Given the description of an element on the screen output the (x, y) to click on. 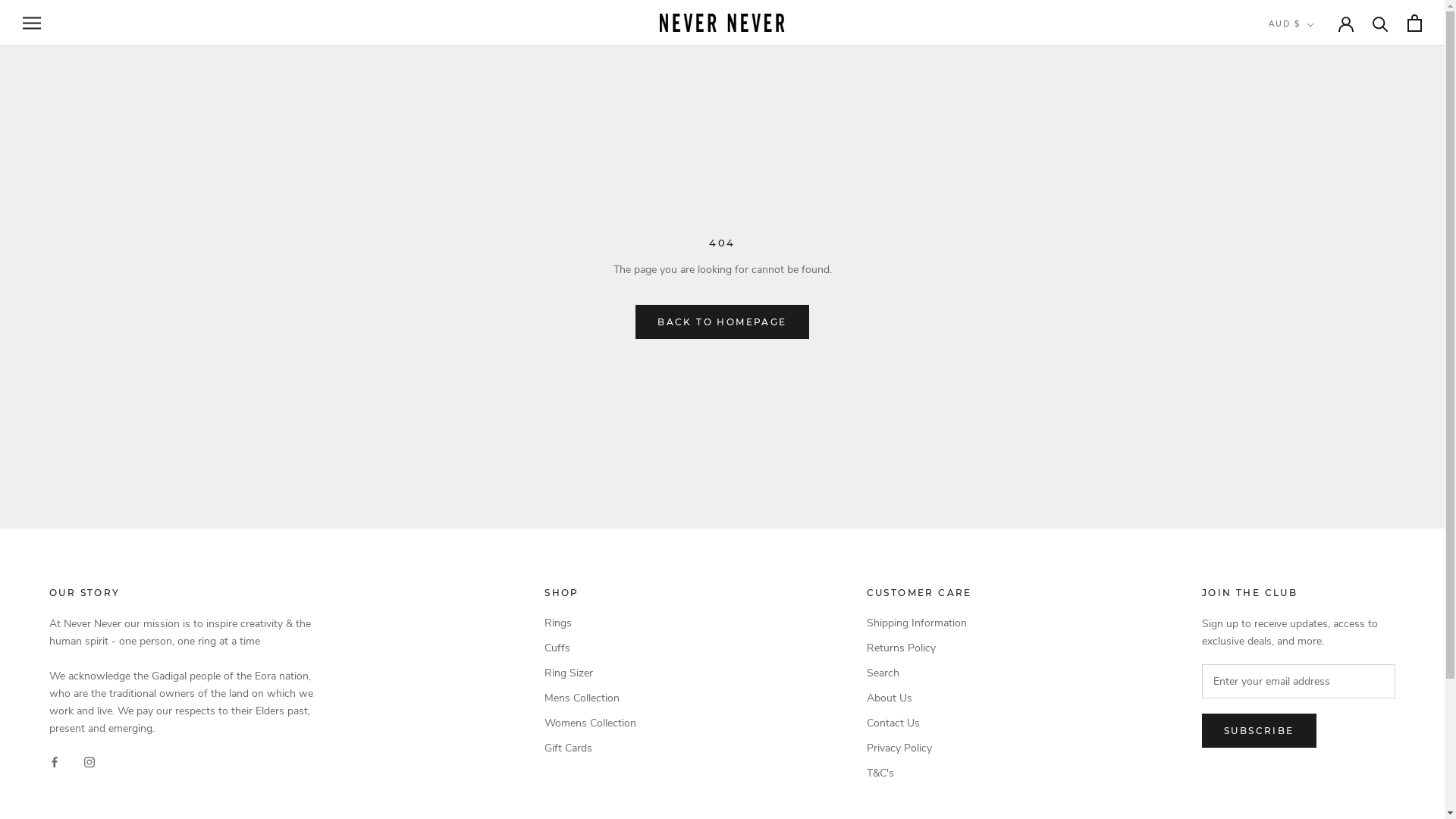
SUBSCRIBE Element type: text (1258, 730)
EGP Element type: text (1317, 638)
CHF Element type: text (1317, 458)
Search Element type: text (919, 672)
AFN Element type: text (1317, 75)
CVE Element type: text (1317, 518)
Womens Collection Element type: text (590, 723)
BND Element type: text (1317, 317)
EUR Element type: text (1317, 678)
BZD Element type: text (1317, 397)
DJF Element type: text (1317, 558)
GBP Element type: text (1317, 739)
AED Element type: text (1317, 56)
BBD Element type: text (1317, 236)
ALL Element type: text (1317, 96)
CAD Element type: text (1317, 417)
T&C's Element type: text (919, 773)
BIF Element type: text (1317, 297)
DOP Element type: text (1317, 598)
BAM Element type: text (1317, 217)
BSD Element type: text (1317, 357)
Contact Us Element type: text (919, 723)
Cuffs Element type: text (590, 647)
CNY Element type: text (1317, 477)
DKK Element type: text (1317, 578)
Gift Cards Element type: text (590, 748)
AWG Element type: text (1317, 176)
GMD Element type: text (1317, 759)
Ring Sizer Element type: text (590, 672)
ETB Element type: text (1317, 659)
DZD Element type: text (1317, 618)
ANG Element type: text (1317, 136)
CZK Element type: text (1317, 538)
CDF Element type: text (1317, 437)
BACK TO HOMEPAGE Element type: text (721, 321)
FJD Element type: text (1317, 699)
GNF Element type: text (1317, 779)
Shipping Information Element type: text (919, 622)
AUD $ Element type: text (1291, 24)
GTQ Element type: text (1317, 799)
AMD Element type: text (1317, 116)
Returns Policy Element type: text (919, 647)
FKP Element type: text (1317, 719)
About Us Element type: text (919, 698)
Mens Collection Element type: text (590, 698)
Rings Element type: text (590, 622)
BDT Element type: text (1317, 257)
AZN Element type: text (1317, 196)
AUD Element type: text (1317, 156)
Privacy Policy Element type: text (919, 748)
CRC Element type: text (1317, 498)
BGN Element type: text (1317, 276)
BWP Element type: text (1317, 377)
BOB Element type: text (1317, 337)
